Given the description of an element on the screen output the (x, y) to click on. 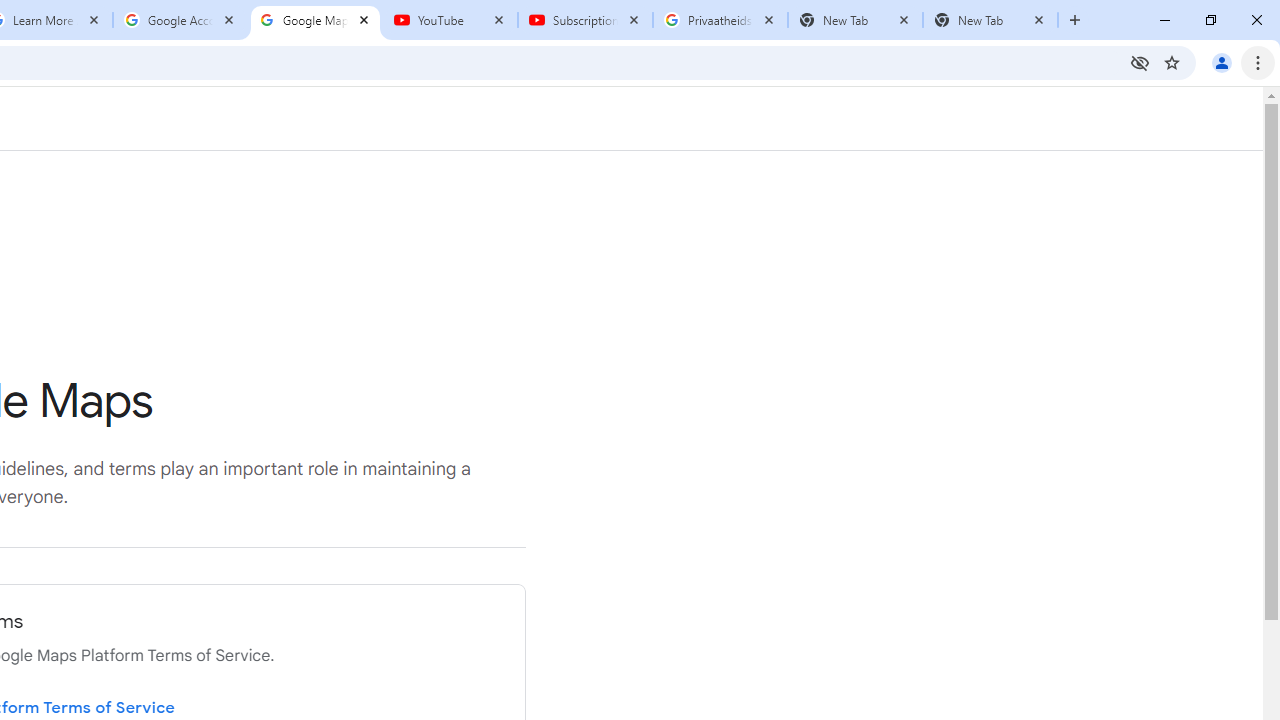
Google Account (180, 20)
Google Maps Policies and Guidelines - Transparency Center (315, 20)
YouTube (450, 20)
Subscriptions - YouTube (585, 20)
New Tab (990, 20)
